Given the description of an element on the screen output the (x, y) to click on. 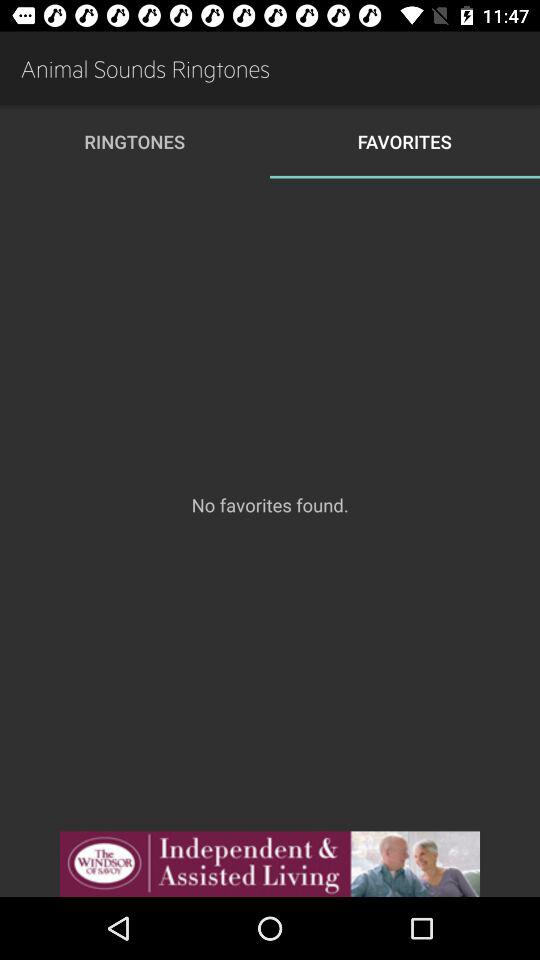
advertisement (270, 864)
